Given the description of an element on the screen output the (x, y) to click on. 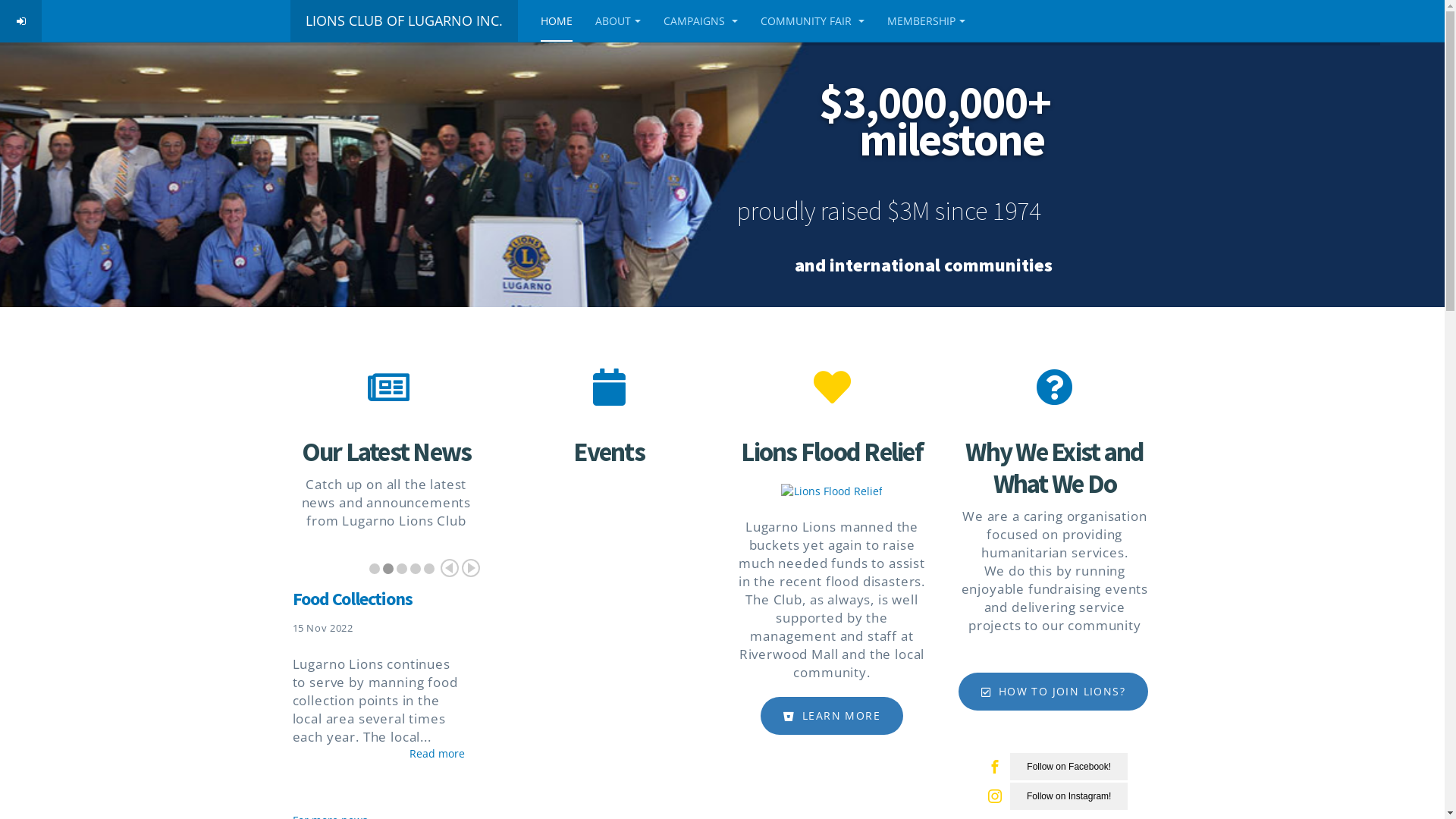
Food Collections Element type: text (352, 598)
Follow on Facebook! Element type: text (1068, 766)
Next Element type: text (470, 567)
HOW TO JOIN LIONS? Element type: text (1053, 691)
3 Element type: text (401, 568)
1 Element type: text (374, 568)
LEARN MORE Element type: text (831, 715)
2 Element type: text (387, 568)
CAMPAIGNS Element type: text (699, 20)
HOME Element type: text (555, 20)
Prev Element type: text (449, 567)
LIONS CLUB OF LUGARNO INC. Element type: text (403, 20)
Read more Element type: text (436, 753)
COMMUNITY FAIR Element type: text (811, 20)
4 Element type: text (415, 568)
Follow on Instagram! Element type: text (1068, 796)
ABOUT Element type: text (617, 20)
MEMBERSHIP Element type: text (926, 20)
5 Element type: text (428, 568)
